Given the description of an element on the screen output the (x, y) to click on. 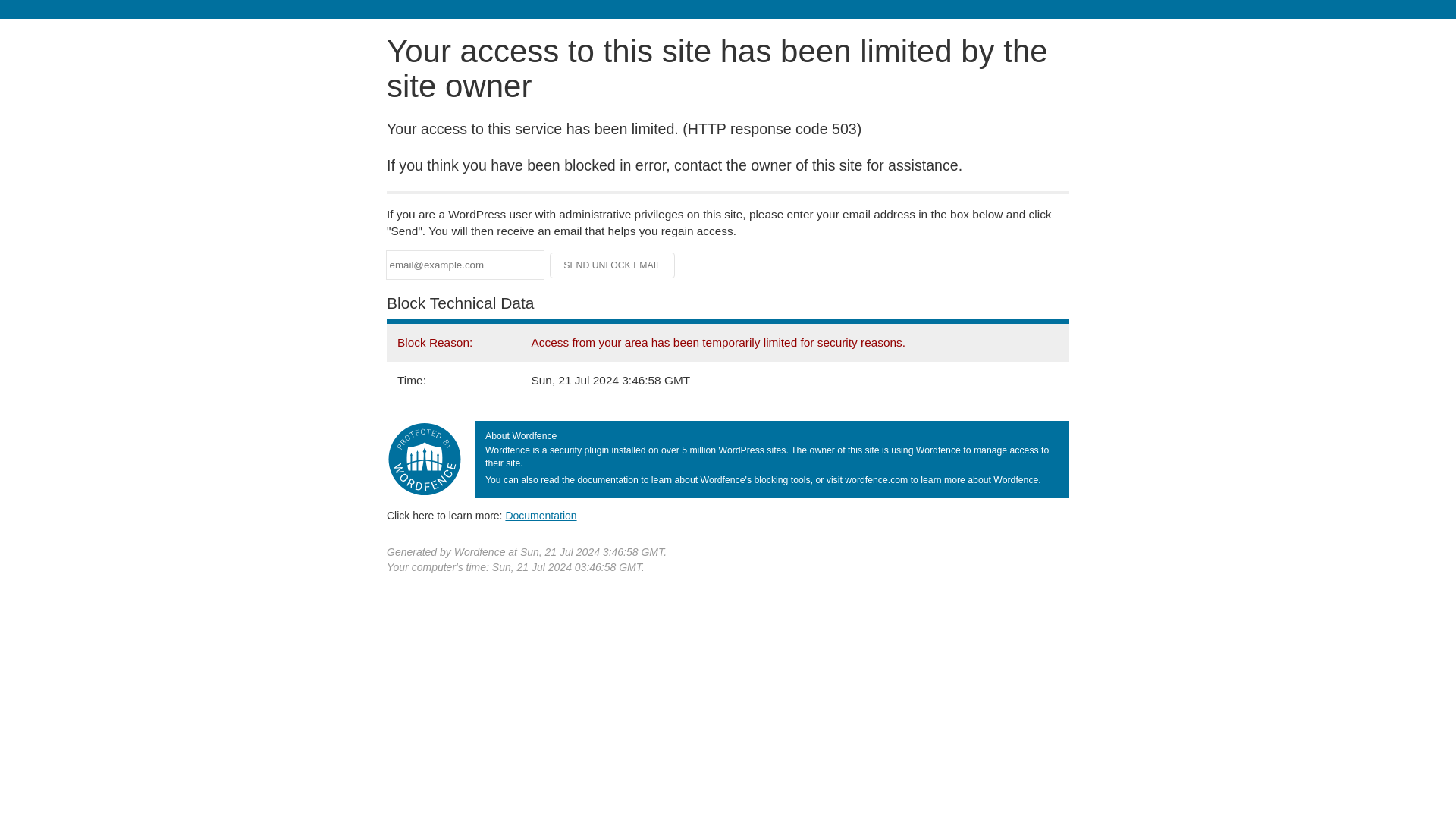
Send Unlock Email (612, 265)
Send Unlock Email (612, 265)
Documentation (540, 515)
